Given the description of an element on the screen output the (x, y) to click on. 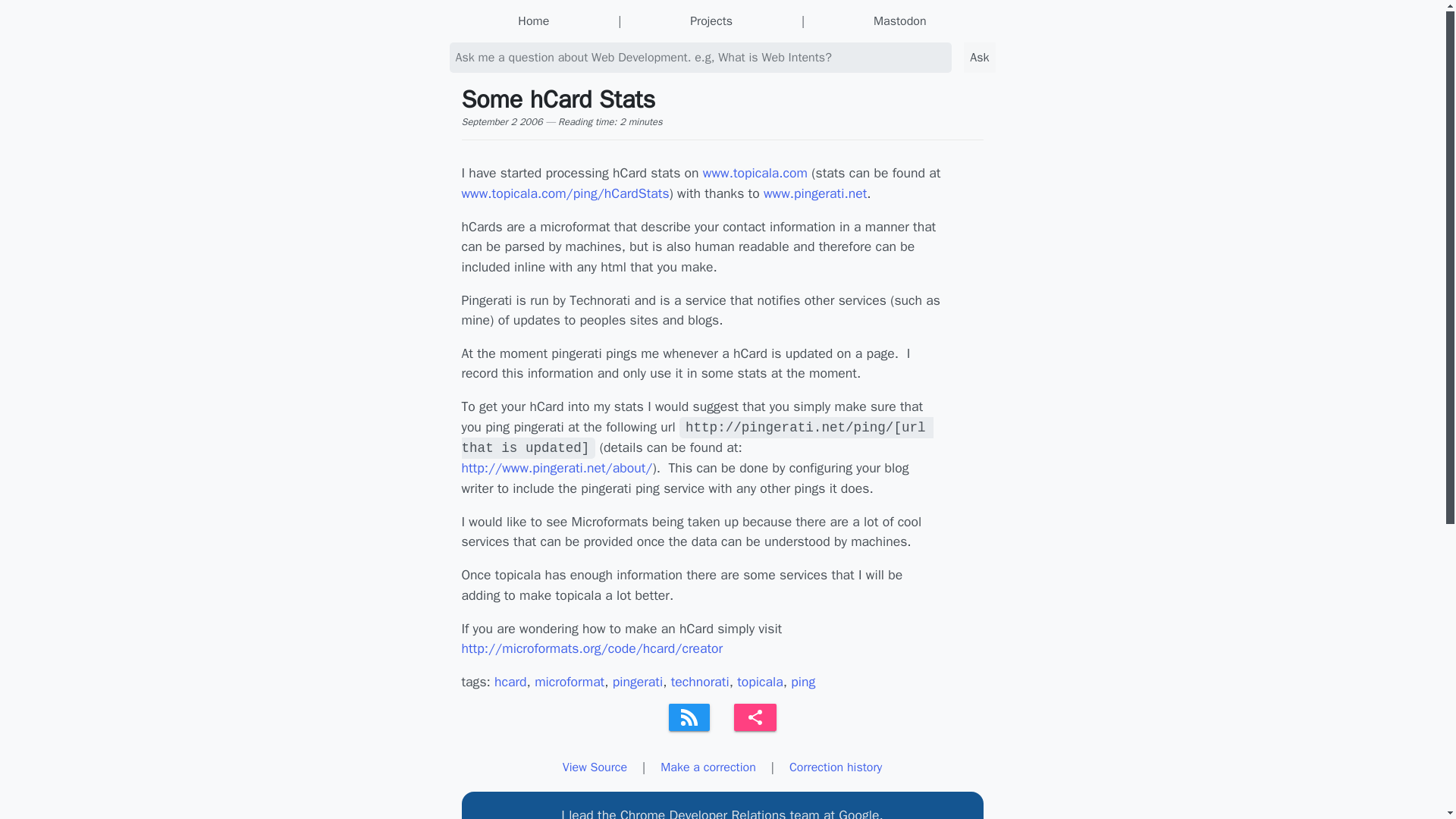
Some hCard Stats (754, 717)
View Source (594, 767)
hcard (510, 681)
ping (802, 681)
Home (533, 21)
Mastodon (900, 21)
Ask (978, 57)
Ask (978, 57)
www.topicala.com (755, 172)
pingerati (637, 681)
